Given the description of an element on the screen output the (x, y) to click on. 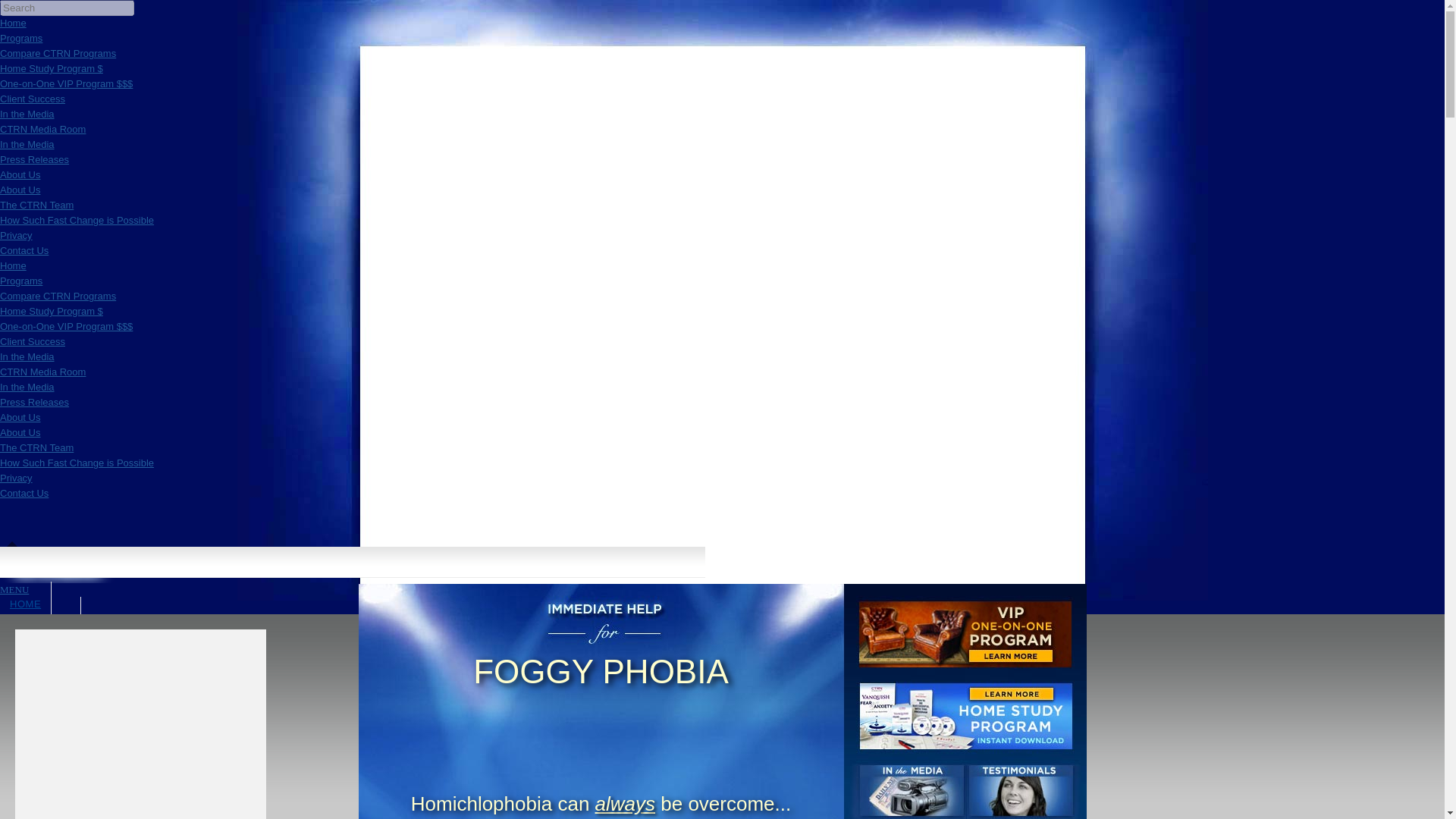
Client Success (32, 98)
Privacy (16, 478)
Compare CTRN Programs (58, 52)
The CTRN Team (37, 447)
Programs (21, 280)
PROGRAMS (40, 617)
The CTRN Team (37, 204)
The CTRN Home Page (13, 22)
The latest press releases from CTRN (34, 159)
Press Releases (34, 401)
